Given the description of an element on the screen output the (x, y) to click on. 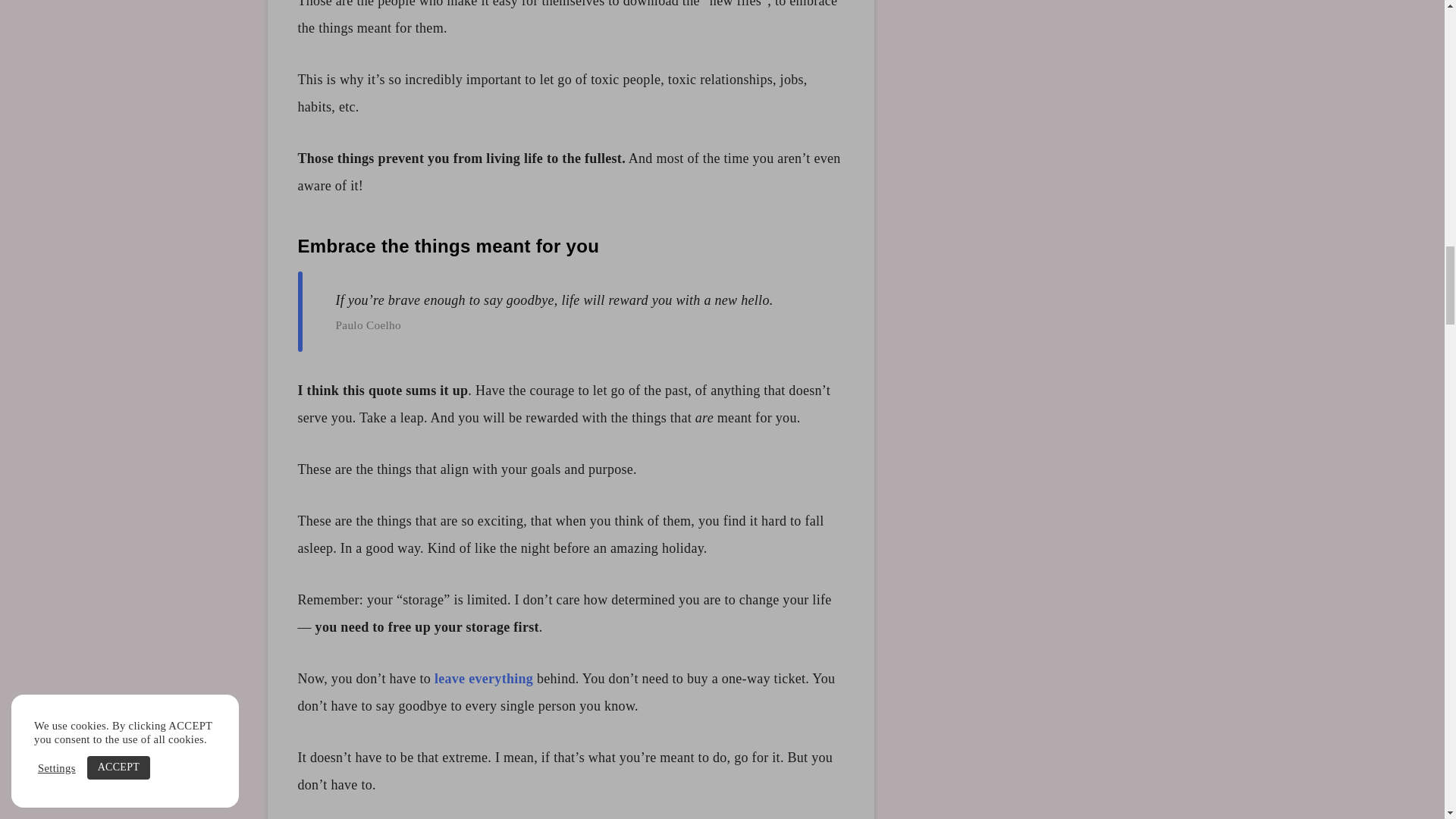
leave everything (482, 678)
